Given the description of an element on the screen output the (x, y) to click on. 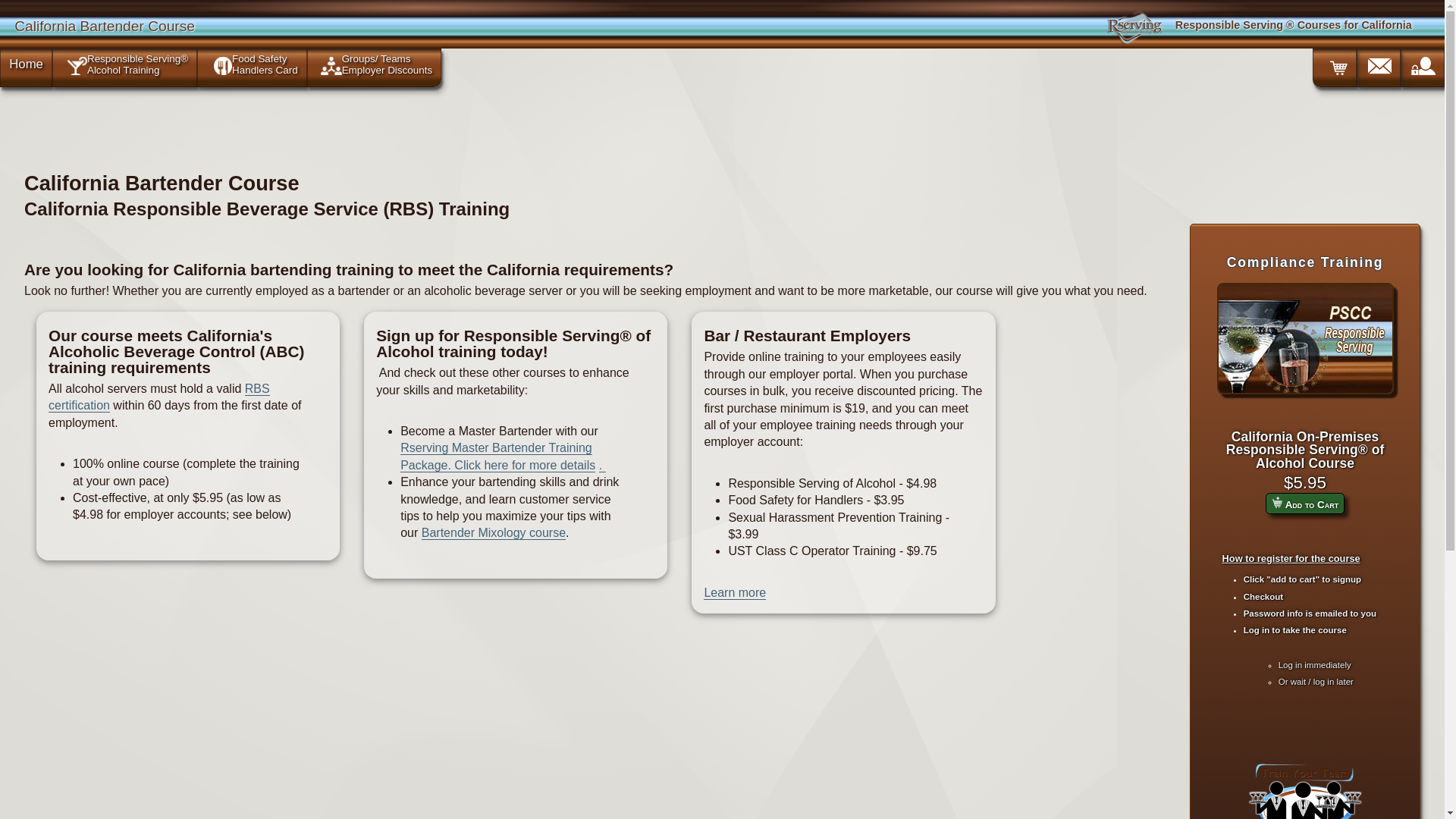
Learn more (734, 592)
Add to Cart (1304, 503)
Bartender Mixology course (494, 532)
Add to Cart (1276, 501)
RBS certification (158, 397)
Train your team - click for team discounts (1304, 789)
Home (25, 63)
